Given the description of an element on the screen output the (x, y) to click on. 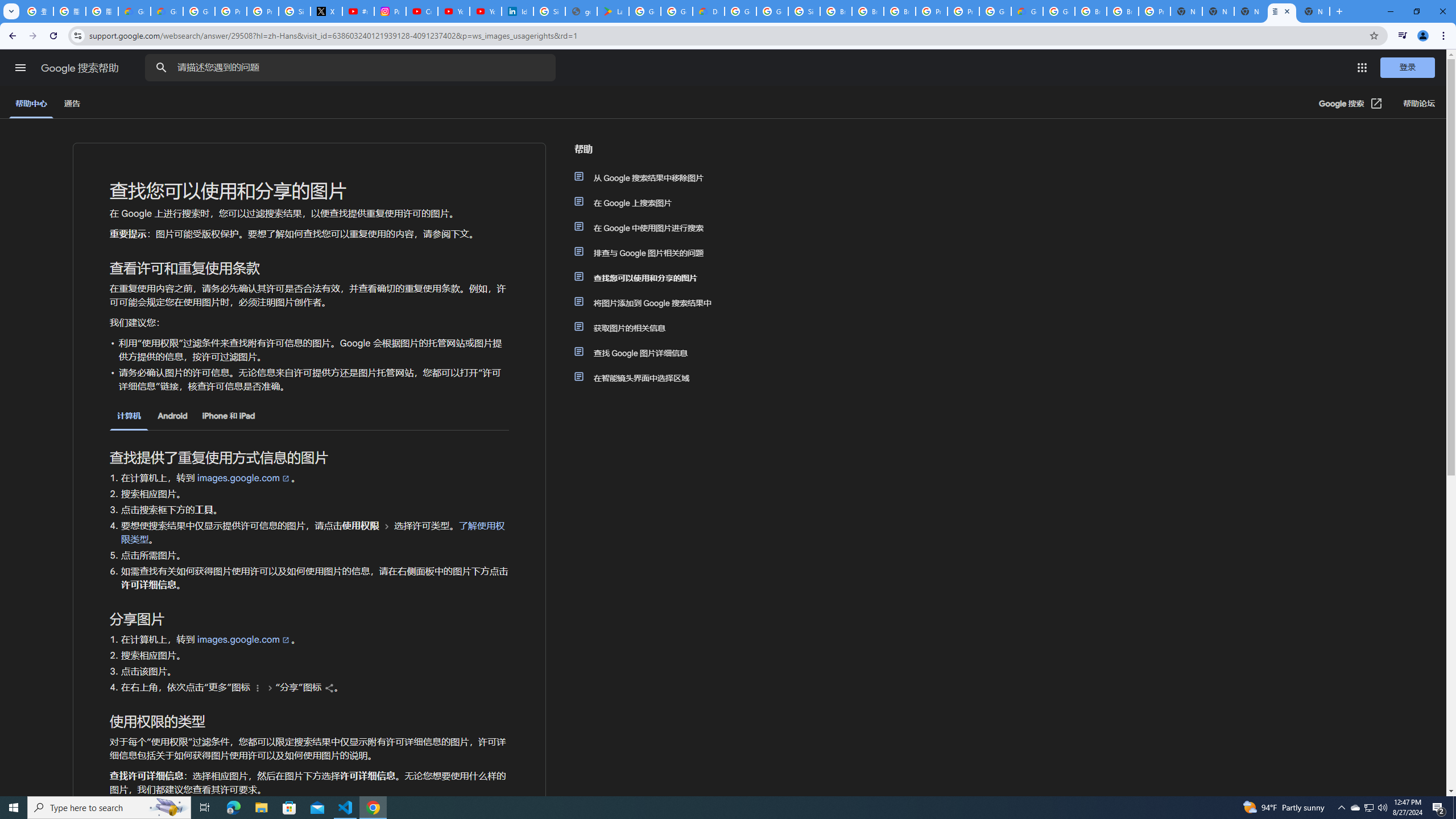
Google Workspace - Specific Terms (676, 11)
Privacy Help Center - Policies Help (262, 11)
Browse Chrome as a guest - Computer - Google Chrome Help (1123, 11)
New Tab (1338, 11)
#nbabasketballhighlights - YouTube (358, 11)
